Given the description of an element on the screen output the (x, y) to click on. 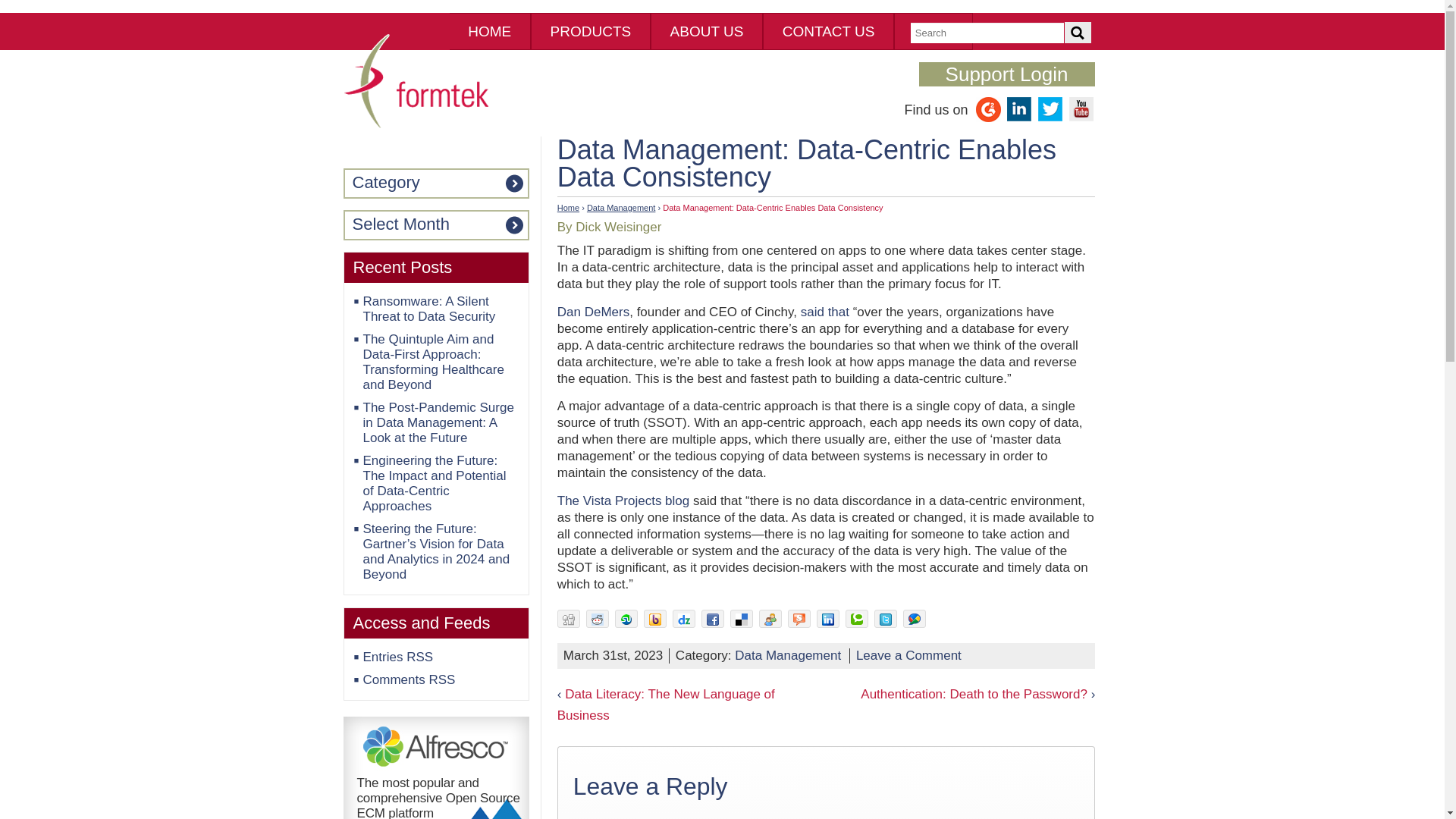
Support Login (1006, 74)
Stumble Now! (625, 619)
Twitter (1049, 117)
ABOUT US (706, 31)
CONTACT US (827, 31)
Share on LinkedIn (828, 619)
Share on Facebook (712, 619)
Buzz This (655, 619)
Ransomware: A Silent Threat to Data Security (428, 308)
BLOG (932, 31)
Kick It on DotNetKicks.com (770, 619)
Bookmark this on Technorati (856, 619)
Vote on DZone (684, 619)
